Given the description of an element on the screen output the (x, y) to click on. 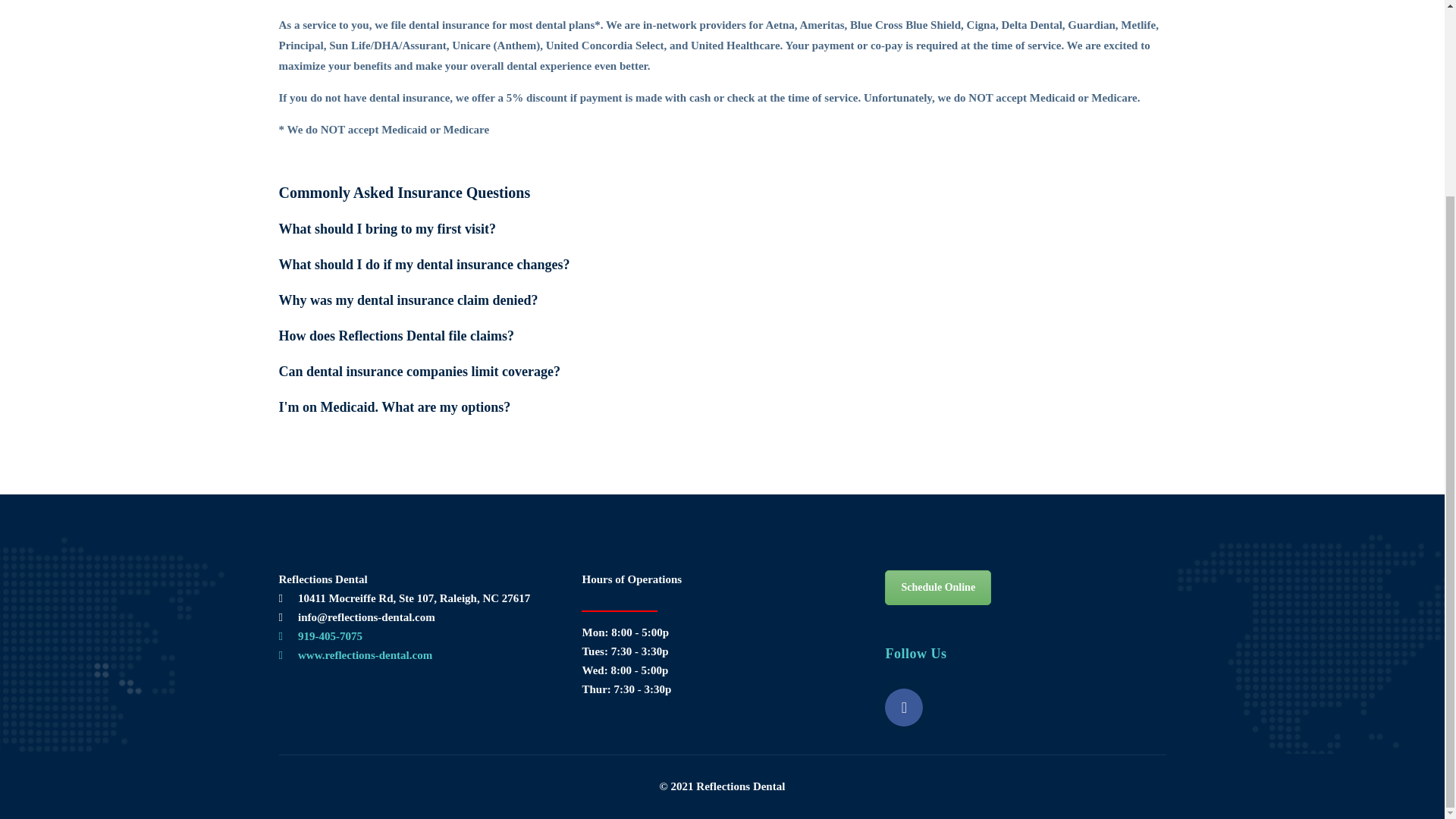
www.reflections-dental.com (365, 654)
919-405-7075 (330, 635)
Schedule Online (938, 587)
